Given the description of an element on the screen output the (x, y) to click on. 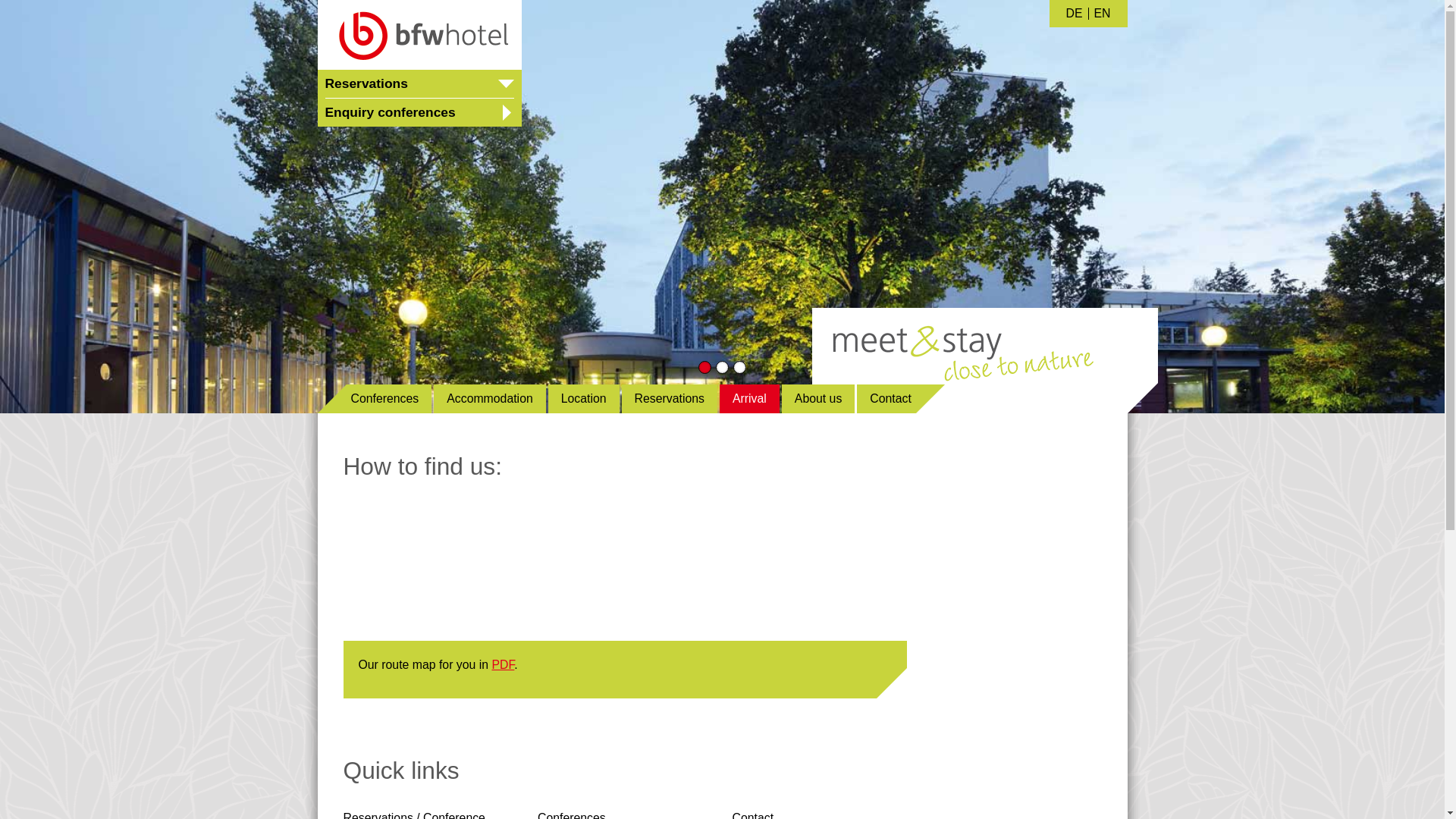
About us (817, 398)
PDF (502, 664)
Link to Contact page (753, 815)
Contact (900, 398)
Accommodation (489, 398)
Reservations (669, 398)
About us (817, 398)
Location (584, 398)
Arrival (748, 398)
Accommodation (489, 398)
Link to Reservation and Conference enquiry page (413, 815)
EN (1102, 13)
Conferences (571, 815)
Location (584, 398)
Arrival (748, 398)
